Given the description of an element on the screen output the (x, y) to click on. 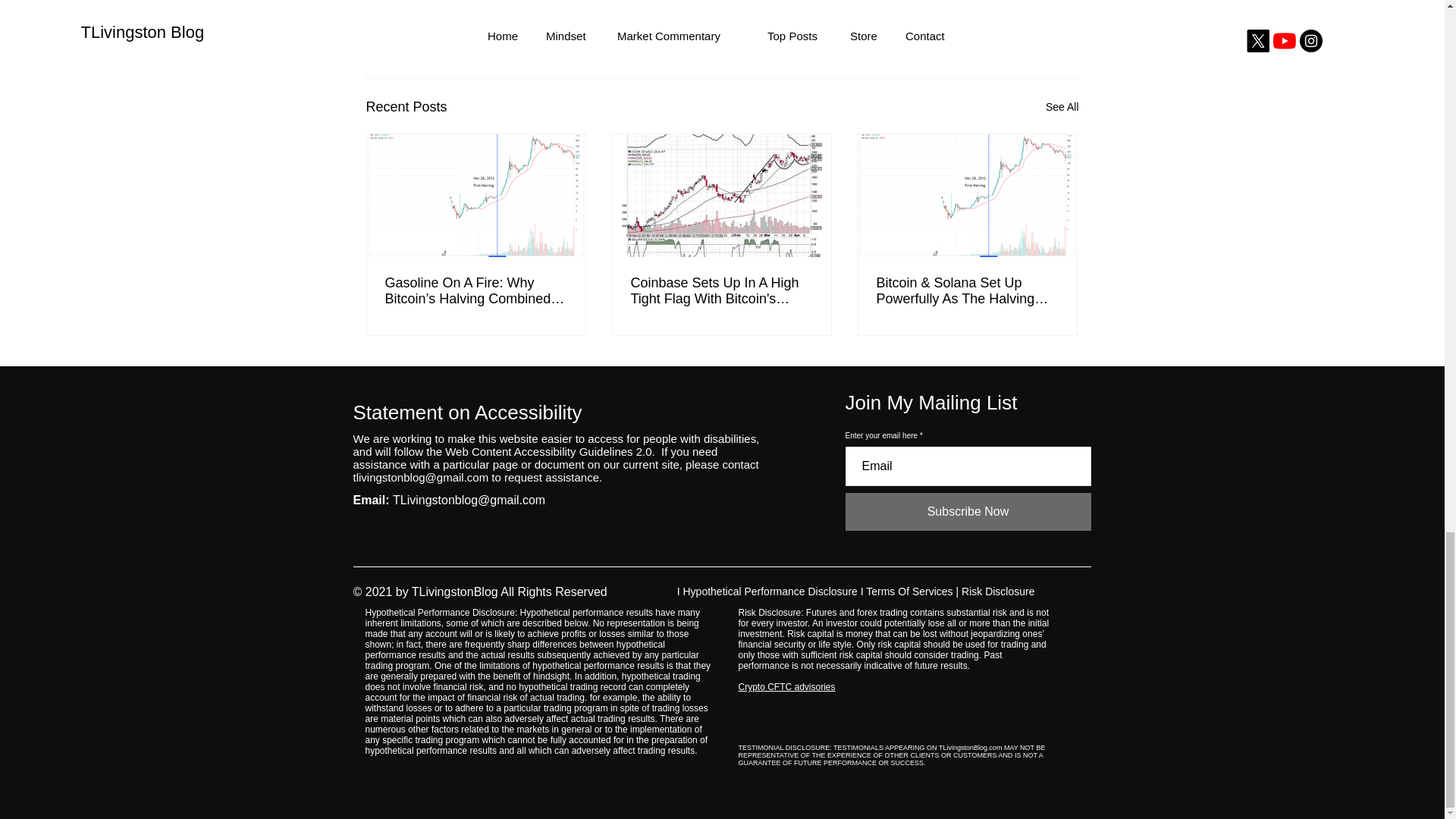
ivingstonBlog All Rights Reserved (516, 591)
Subscribe Now (967, 511)
I Hypothetical Performance Disclosure I Terms Of Services (815, 591)
Market Commentary (955, 9)
See All (1061, 106)
